Given the description of an element on the screen output the (x, y) to click on. 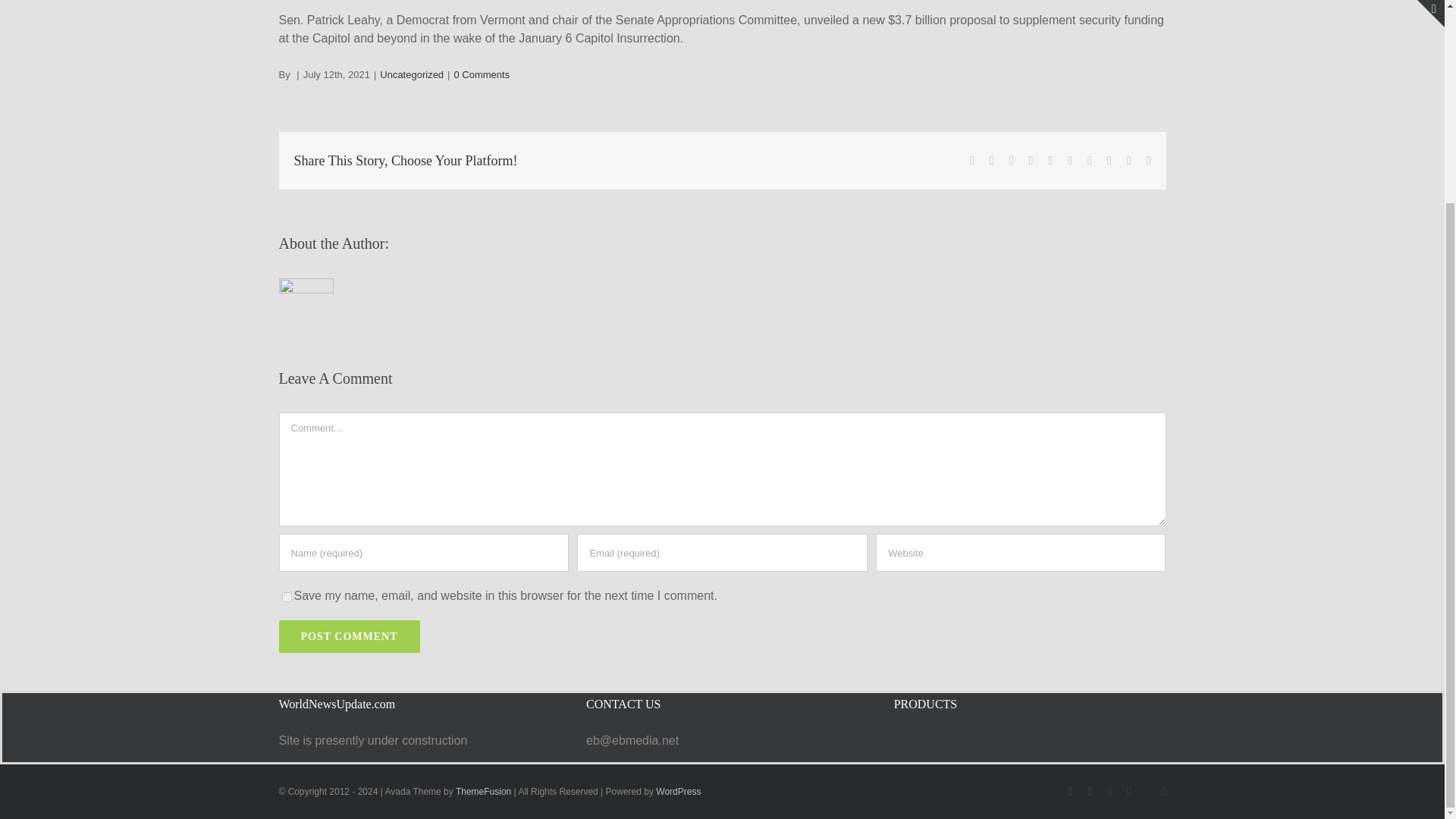
0 Comments (480, 74)
Post Comment (349, 635)
Uncategorized (412, 74)
WordPress (678, 791)
ThemeFusion (483, 791)
yes (287, 596)
Post Comment (349, 635)
